Given the description of an element on the screen output the (x, y) to click on. 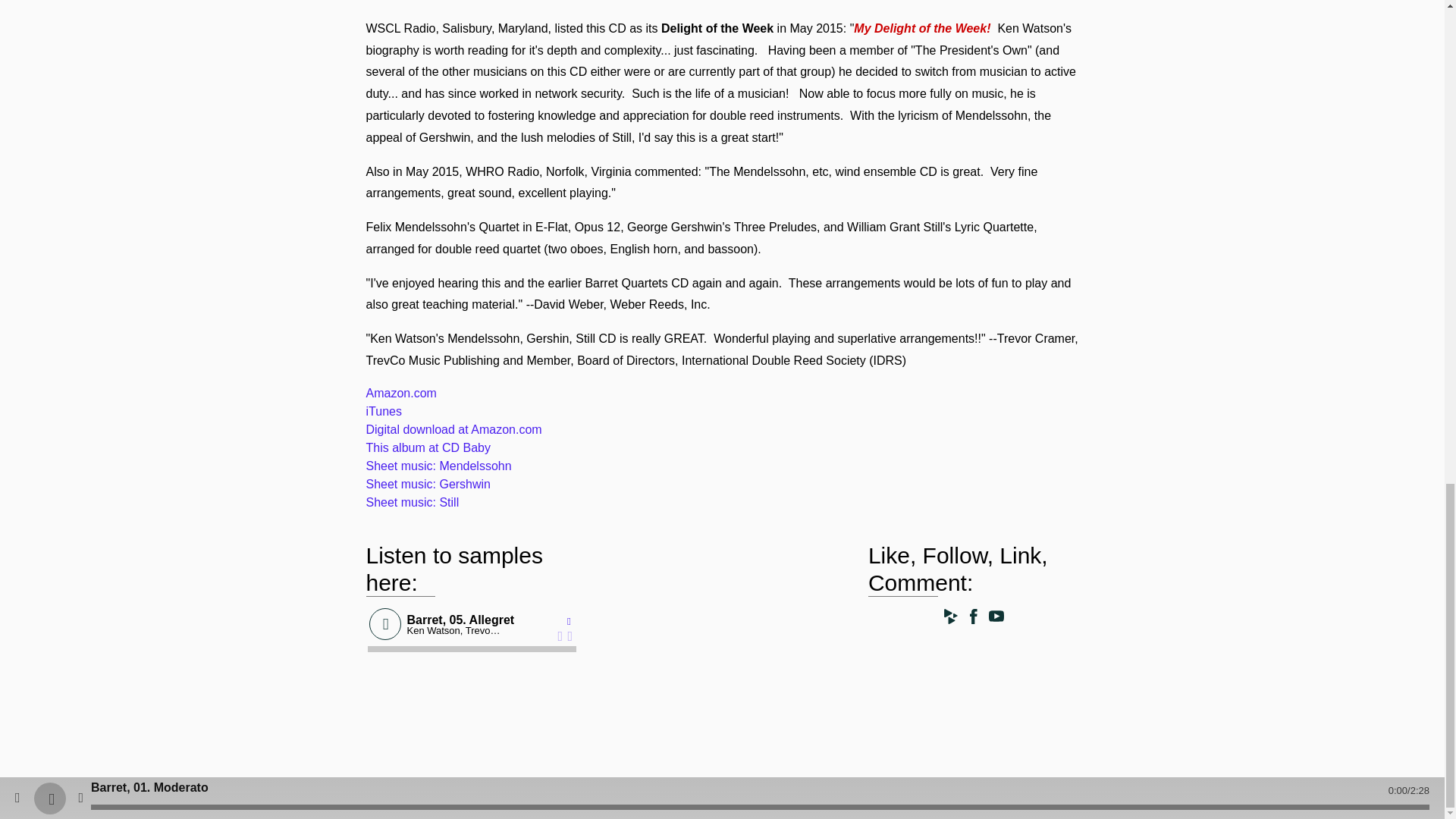
Amazon.com (400, 392)
iTunes (383, 410)
Digital download at Amazon.com (453, 429)
